Given the description of an element on the screen output the (x, y) to click on. 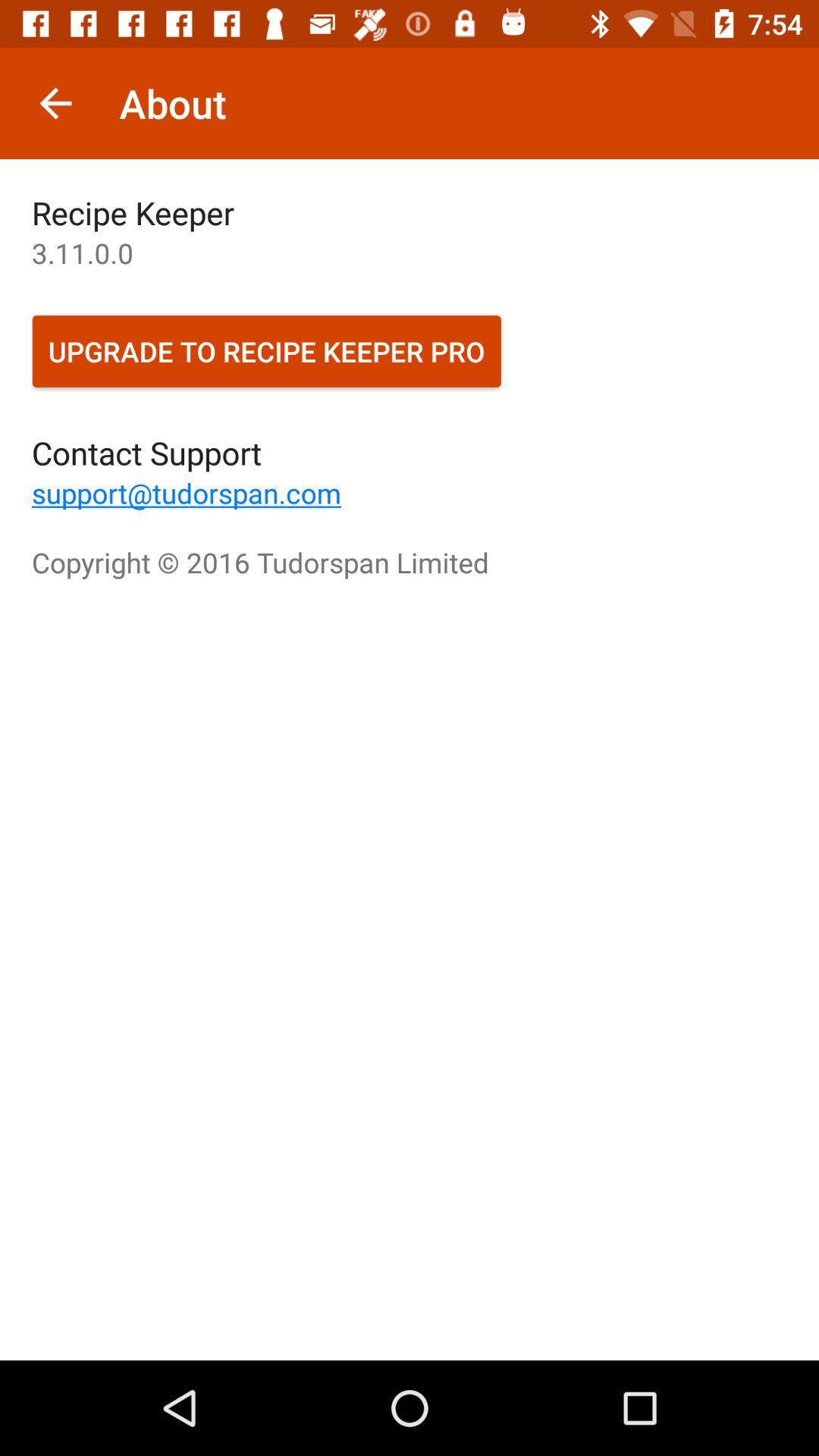
select item to the left of the about (55, 103)
